Given the description of an element on the screen output the (x, y) to click on. 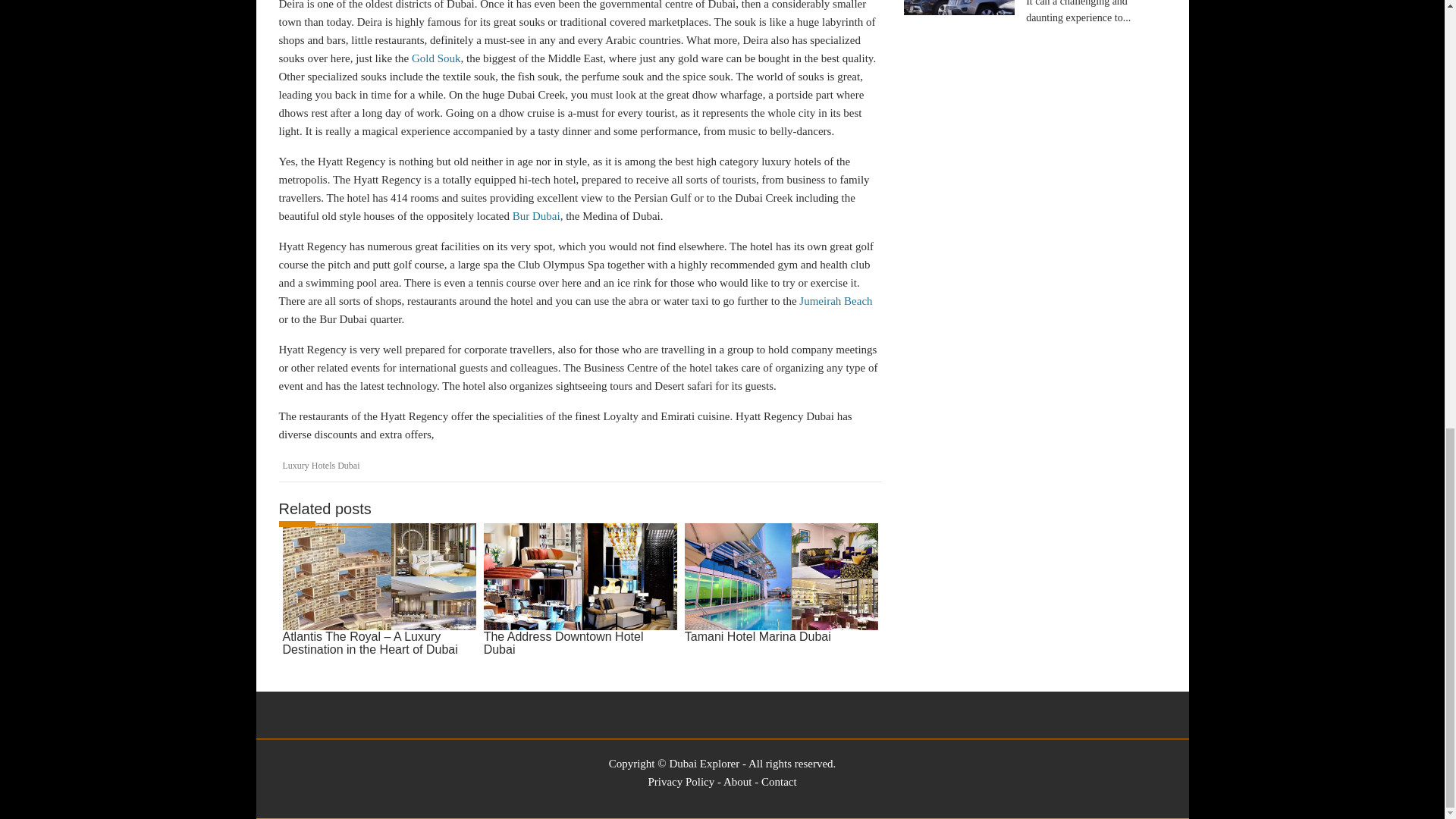
Tamani Hotel Marina Dubai (780, 584)
Gold Souk (436, 58)
The Address Downtown Hotel Dubai (580, 591)
Luxury Hotels Dubai (320, 465)
Bur Dubai (536, 215)
Jumeirah Beach (835, 300)
